Given the description of an element on the screen output the (x, y) to click on. 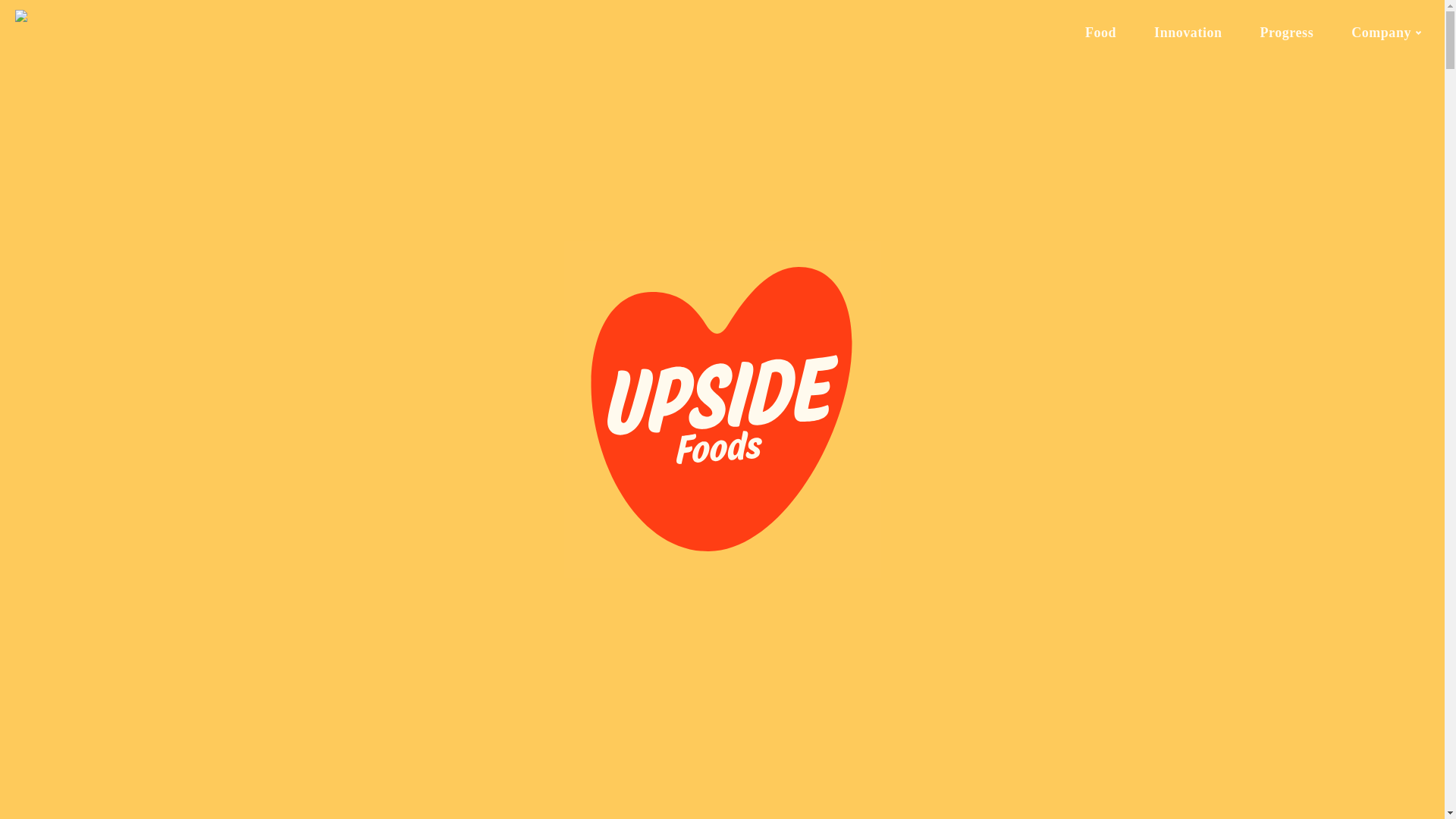
Innovation (1187, 31)
Progress (1287, 31)
Company (1386, 32)
Food (1100, 31)
